Given the description of an element on the screen output the (x, y) to click on. 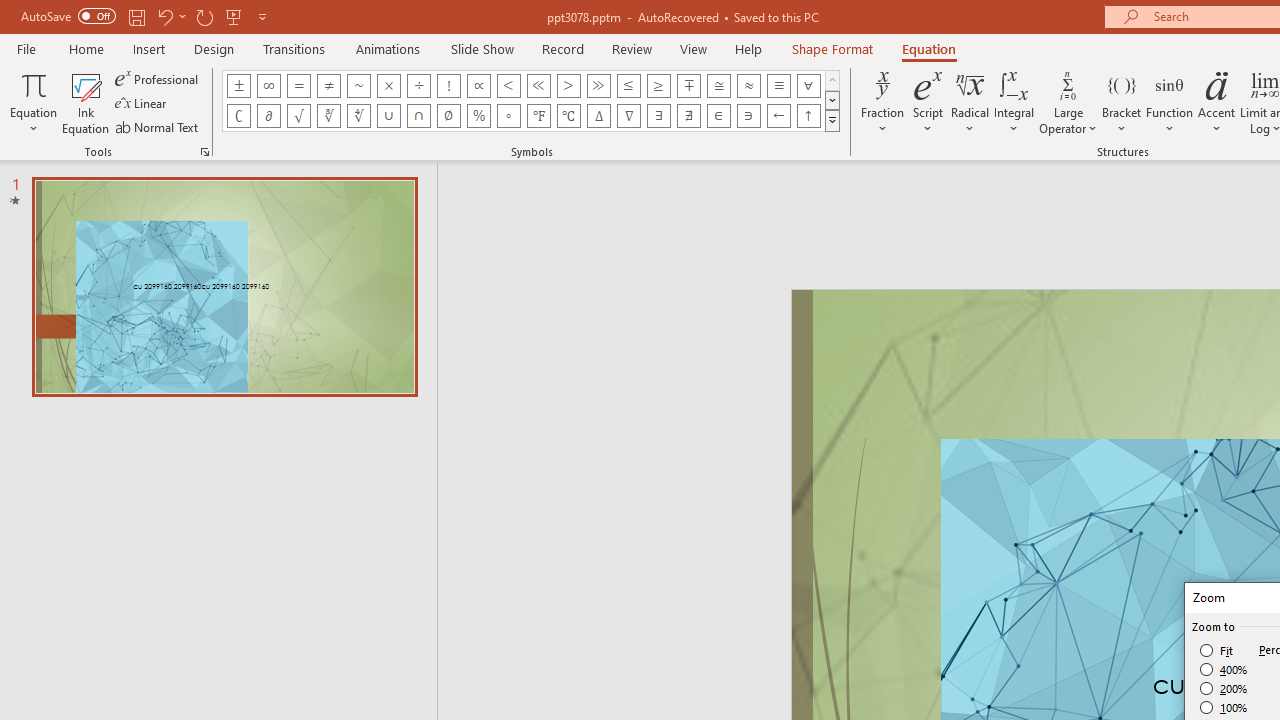
Equation Symbol Intersection (418, 115)
Equation Symbol There Does Not Exist (689, 115)
Equation Symbol Nabla (628, 115)
Linear (142, 103)
Fraction (882, 102)
Equation Symbol Greater Than or Equal To (658, 85)
Equation Symbol Approximately (358, 85)
Equation Symbol Element Of (718, 115)
Equation Symbol Increment (598, 115)
Equation Symbol Partial Differential (268, 115)
Equation Symbol Division Sign (418, 85)
Equation Symbol There Exists (658, 115)
100% (1224, 707)
